Given the description of an element on the screen output the (x, y) to click on. 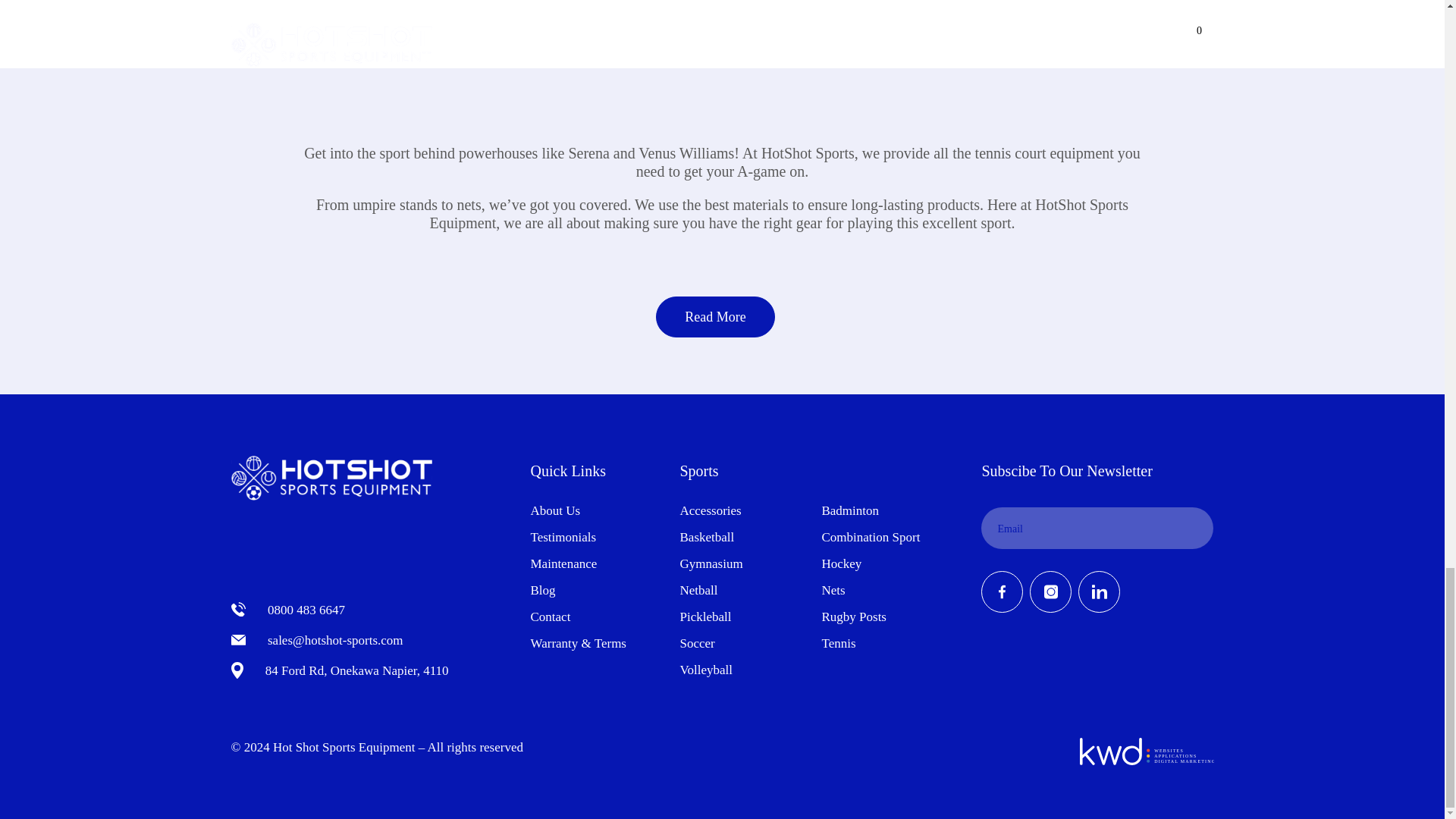
Send (1192, 527)
